Given the description of an element on the screen output the (x, y) to click on. 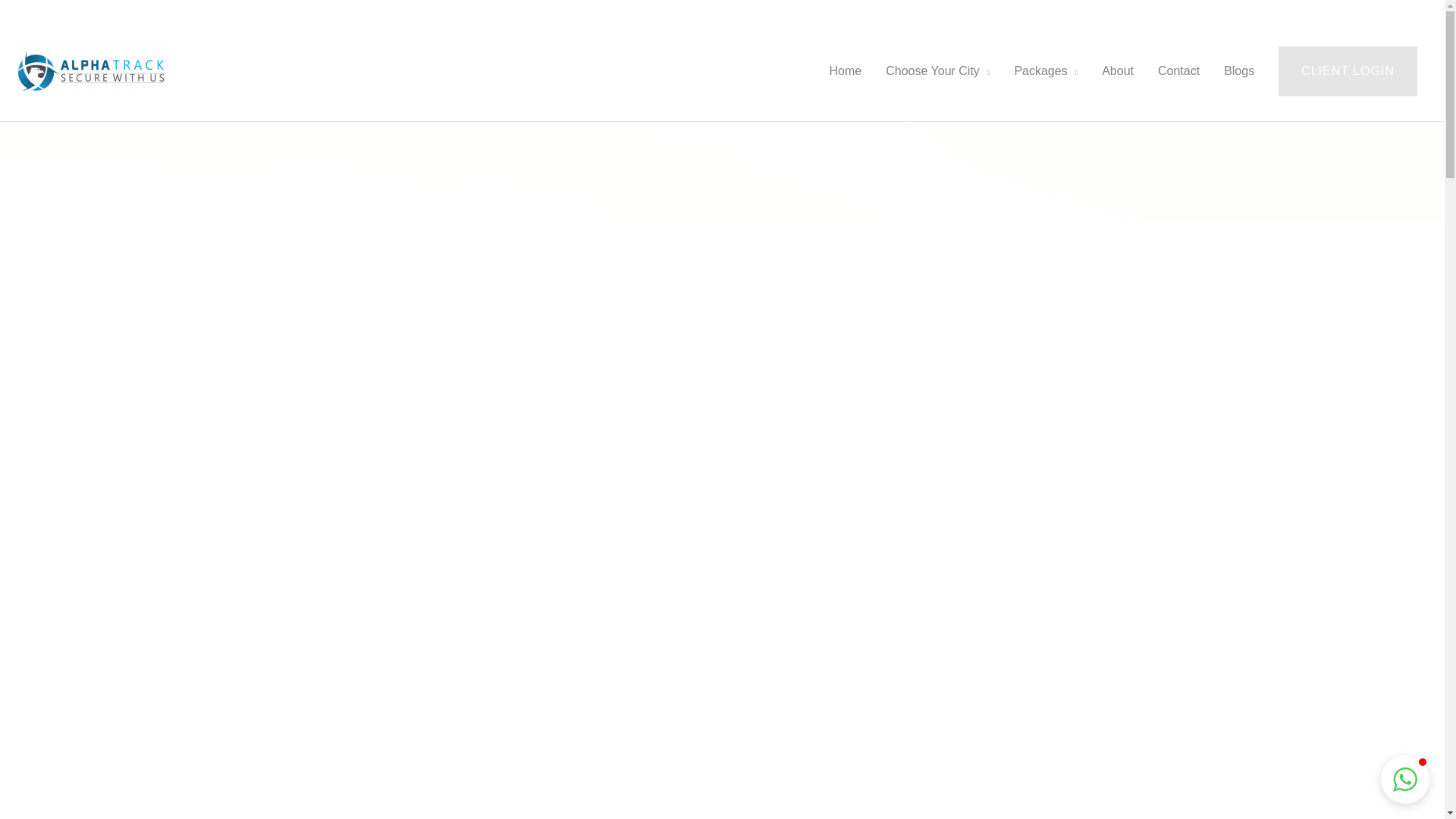
Contact (1178, 70)
Home (845, 70)
Blogs (1238, 70)
CLIENT LOGIN (1347, 70)
wpforms-submit (984, 509)
Choose Your City (937, 70)
About (1117, 70)
Packages (1045, 70)
